Given the description of an element on the screen output the (x, y) to click on. 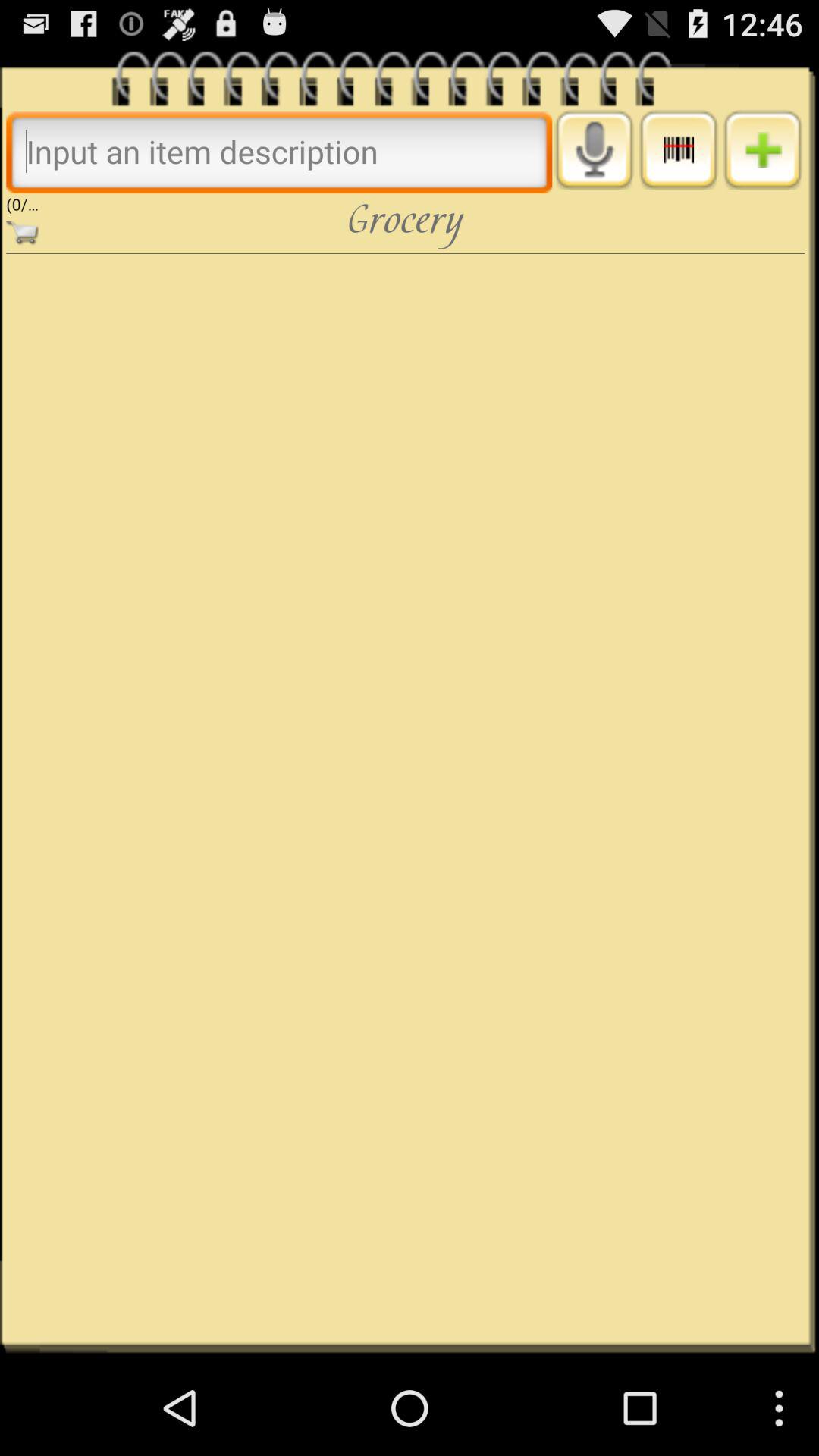
put in word to search (279, 151)
